Given the description of an element on the screen output the (x, y) to click on. 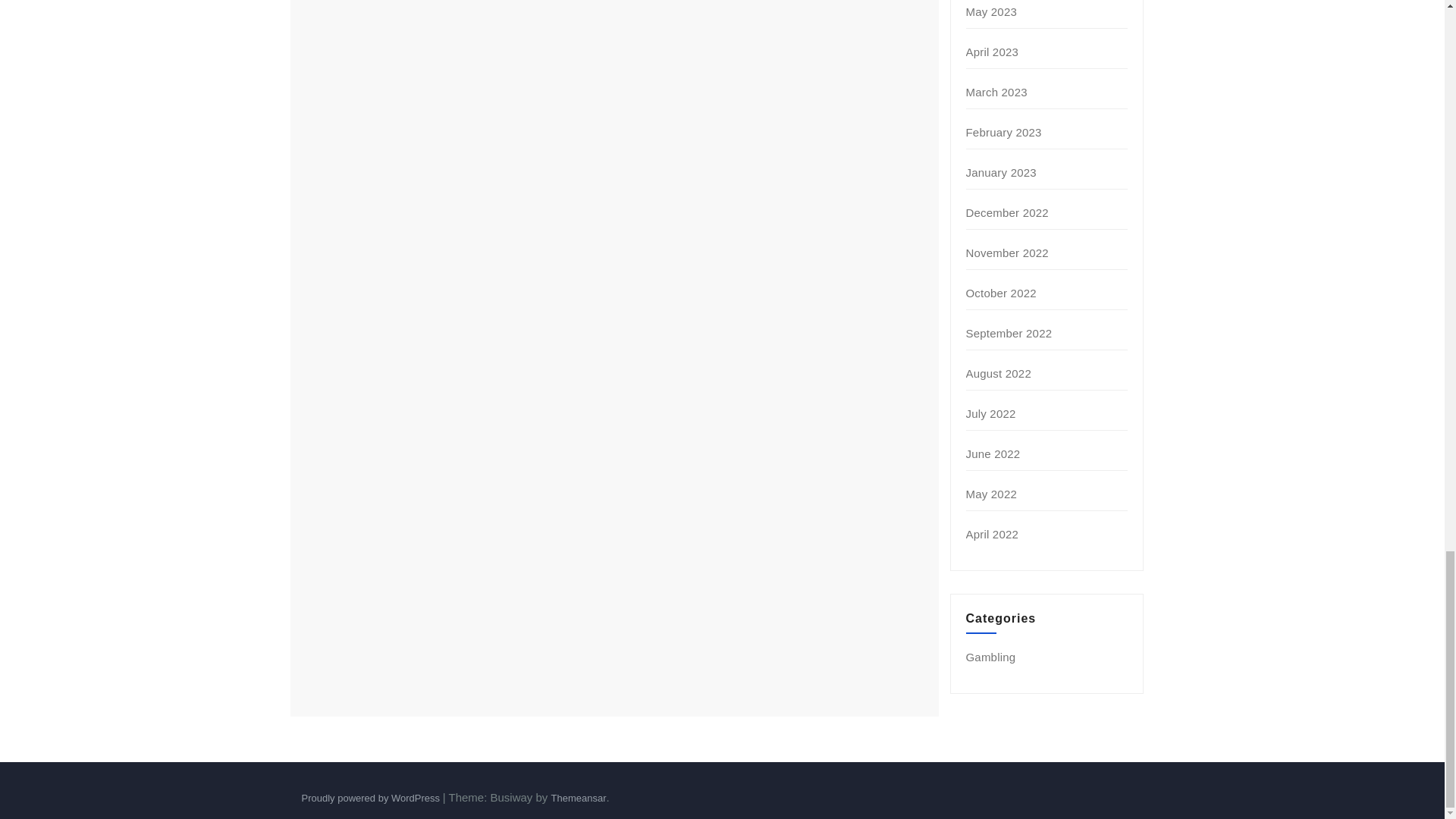
February 2023 (1004, 132)
January 2023 (1001, 172)
March 2023 (996, 91)
May 2023 (991, 11)
April 2023 (992, 51)
